Given the description of an element on the screen output the (x, y) to click on. 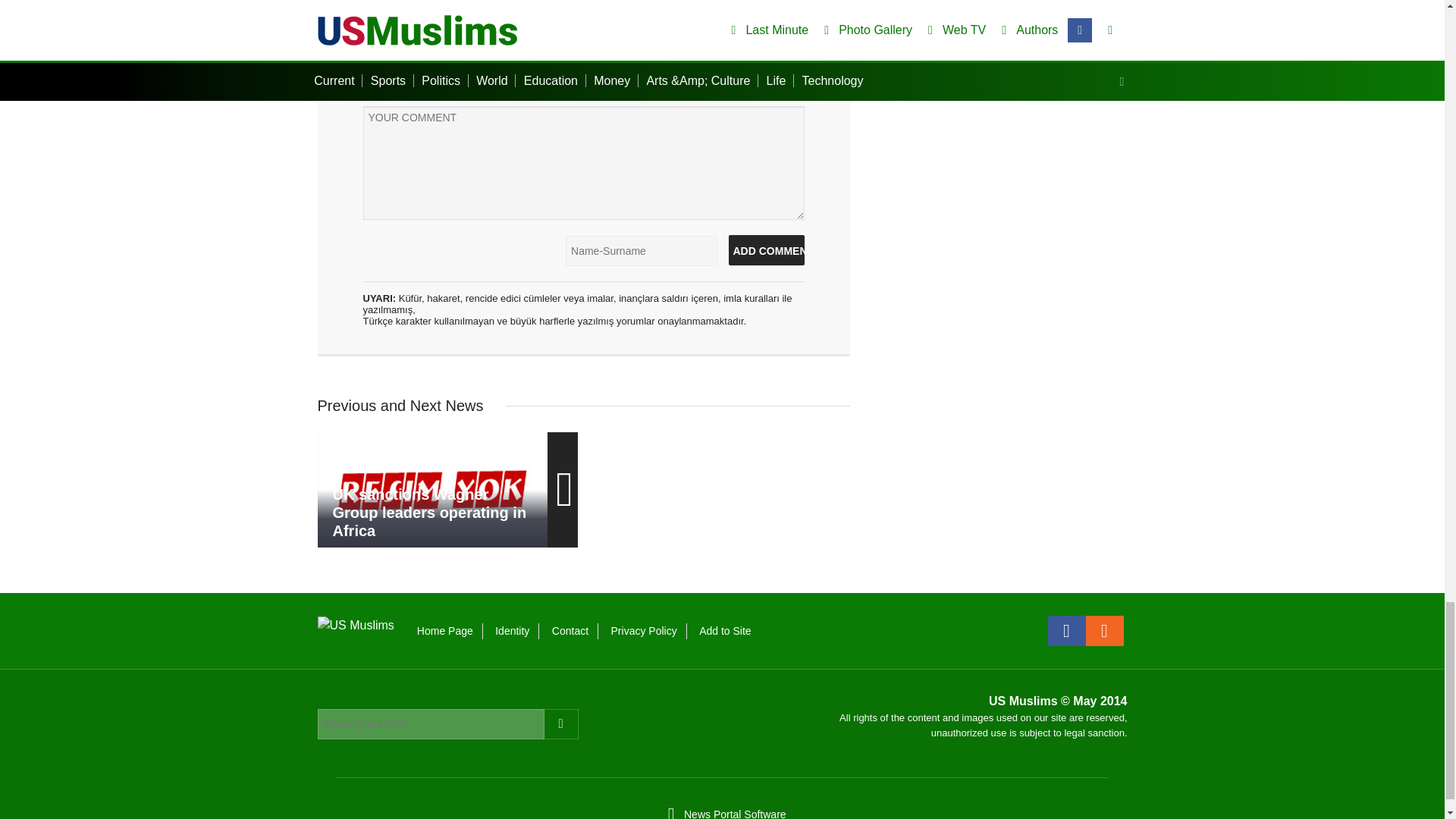
US Muslims (355, 624)
Identity (512, 630)
UK sanctions Wagner Group leaders operating in Africa (432, 489)
ADD COMMENT (765, 250)
Home Page (444, 630)
Home Page (444, 630)
ADD COMMENT (765, 250)
